Given the description of an element on the screen output the (x, y) to click on. 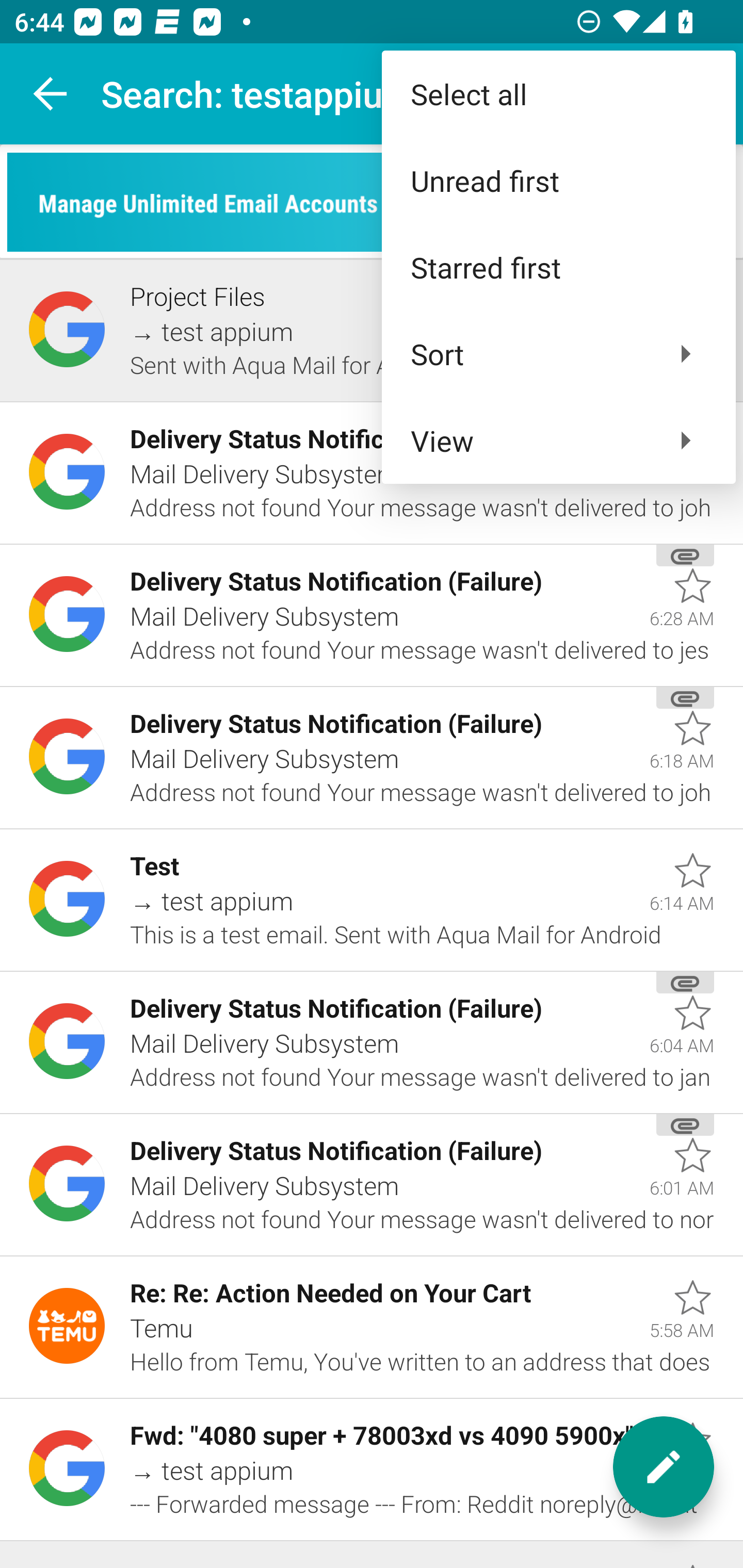
Select all (558, 93)
Unread first (558, 180)
Starred first (558, 267)
Sort (558, 353)
View (558, 440)
